Given the description of an element on the screen output the (x, y) to click on. 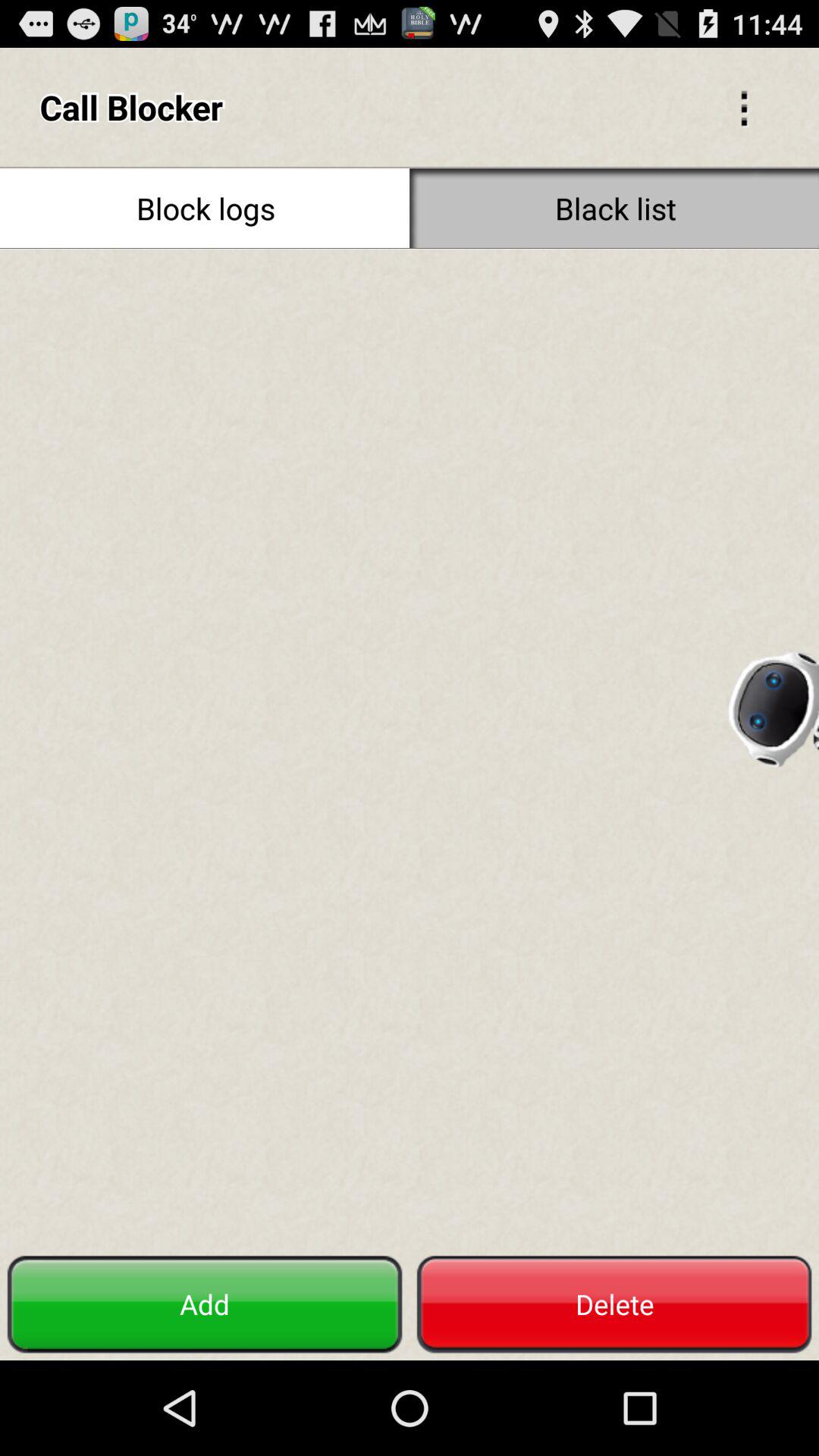
blocked list (409, 748)
